Given the description of an element on the screen output the (x, y) to click on. 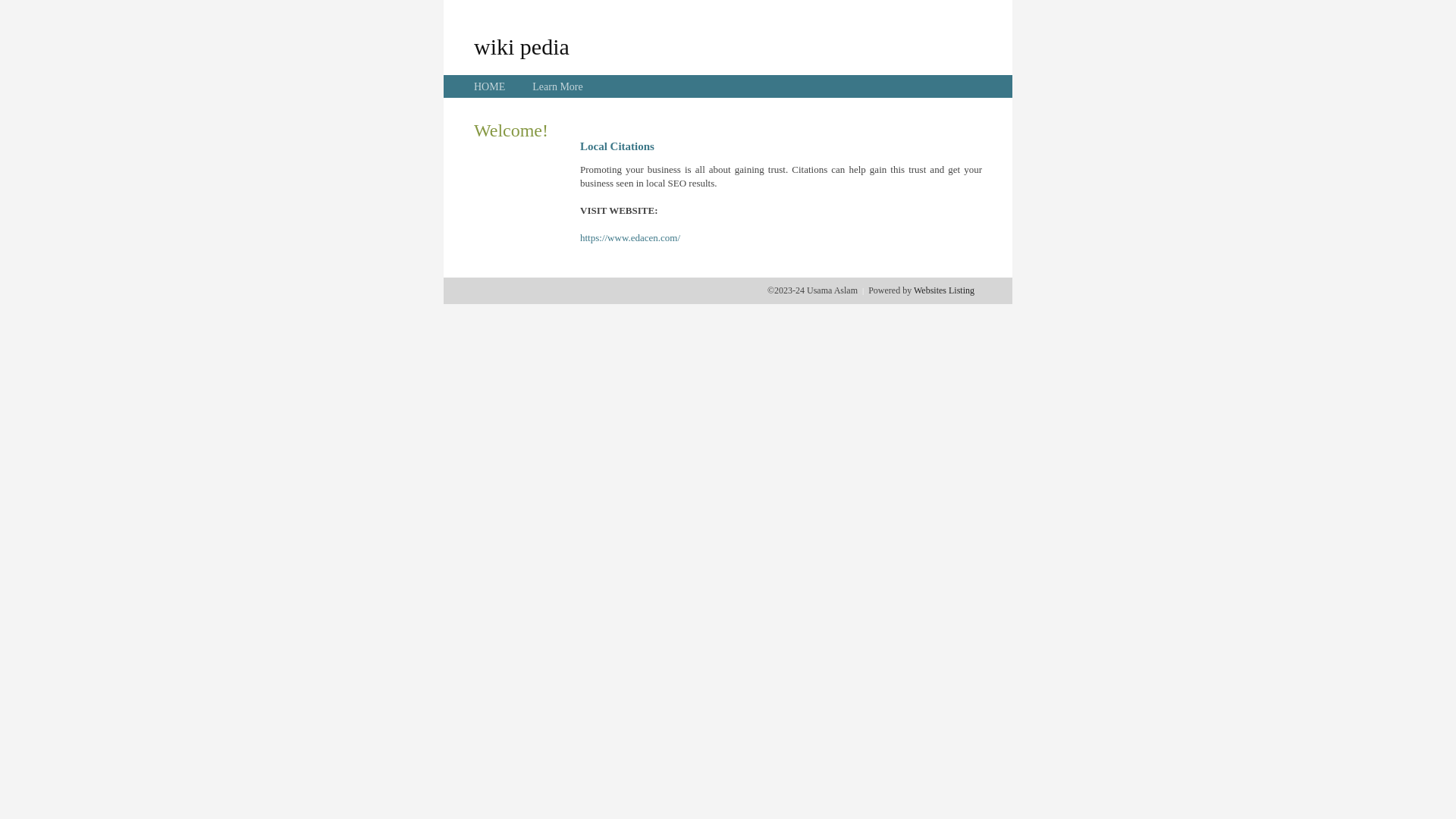
wiki pedia Element type: text (521, 46)
HOME Element type: text (489, 86)
https://www.edacen.com/ Element type: text (630, 237)
Learn More Element type: text (557, 86)
Websites Listing Element type: text (943, 290)
